Given the description of an element on the screen output the (x, y) to click on. 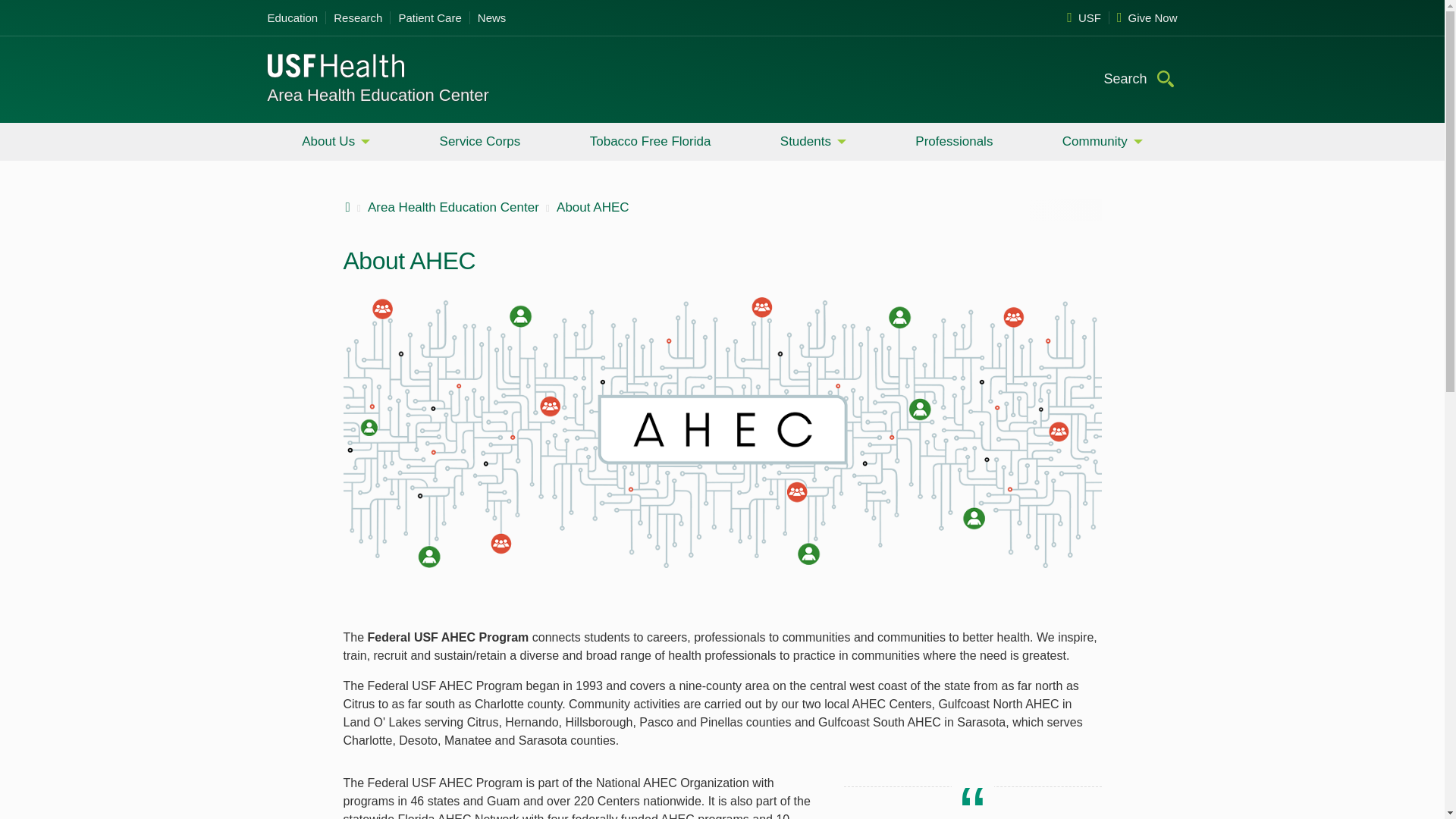
Service Corps (480, 141)
Research (358, 17)
Submit Search (1165, 77)
Community (1102, 141)
Education (296, 17)
Give Now (1143, 17)
Professionals (953, 141)
Area Health Education Center (376, 94)
Students (813, 141)
About AHEC (592, 206)
